Given the description of an element on the screen output the (x, y) to click on. 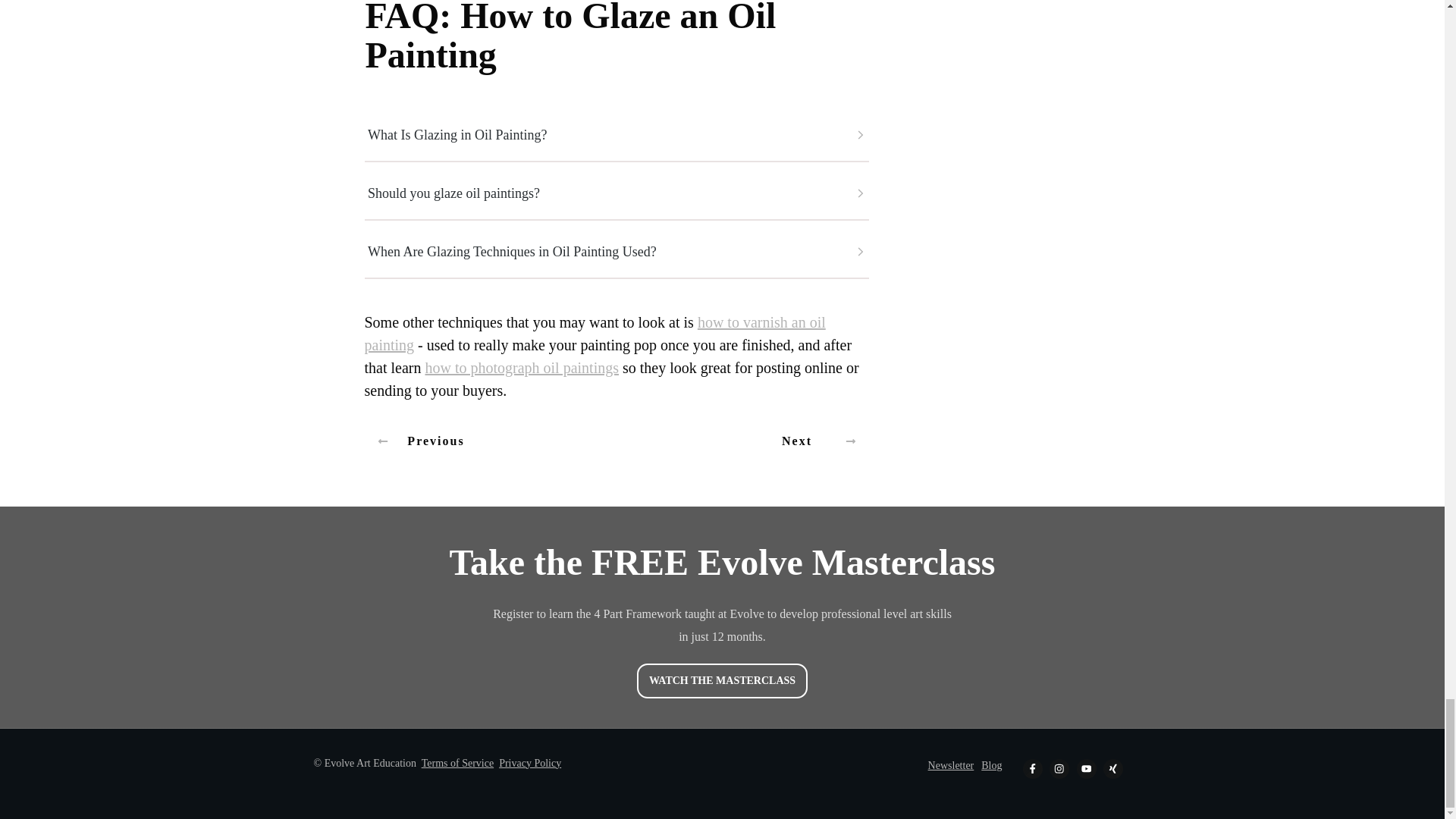
Next (812, 441)
Previous (420, 441)
how to photograph oil paintings (521, 367)
how to varnish an oil painting (594, 332)
